Given the description of an element on the screen output the (x, y) to click on. 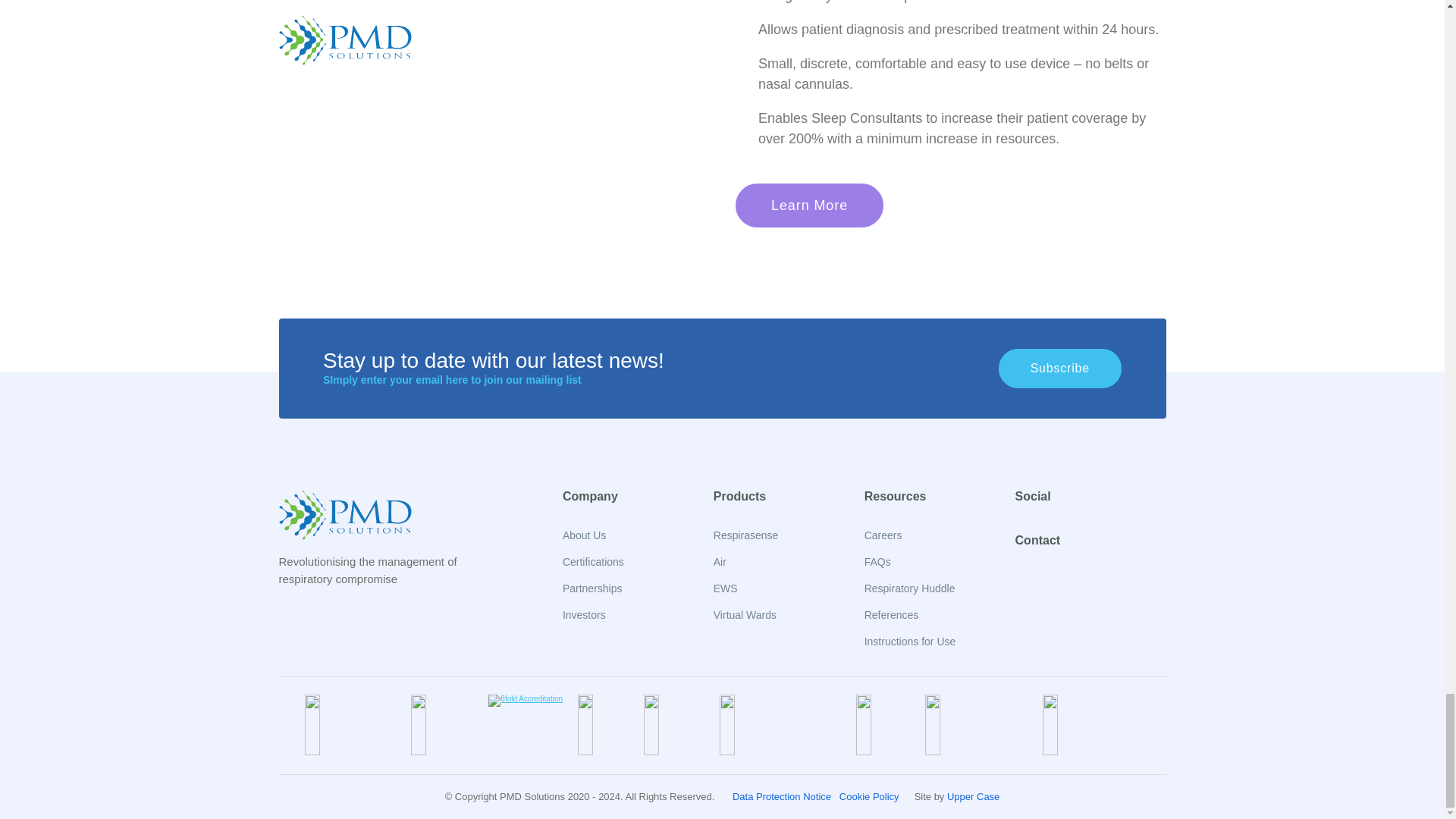
About Us (584, 535)
Partnerships (592, 588)
Contact (1037, 540)
Respiratory Huddle (909, 588)
Virtual Wards (744, 614)
Certifications (593, 562)
References (891, 614)
Cookie Policy (869, 796)
Data Protection Notice (781, 796)
EWS (725, 588)
